Given the description of an element on the screen output the (x, y) to click on. 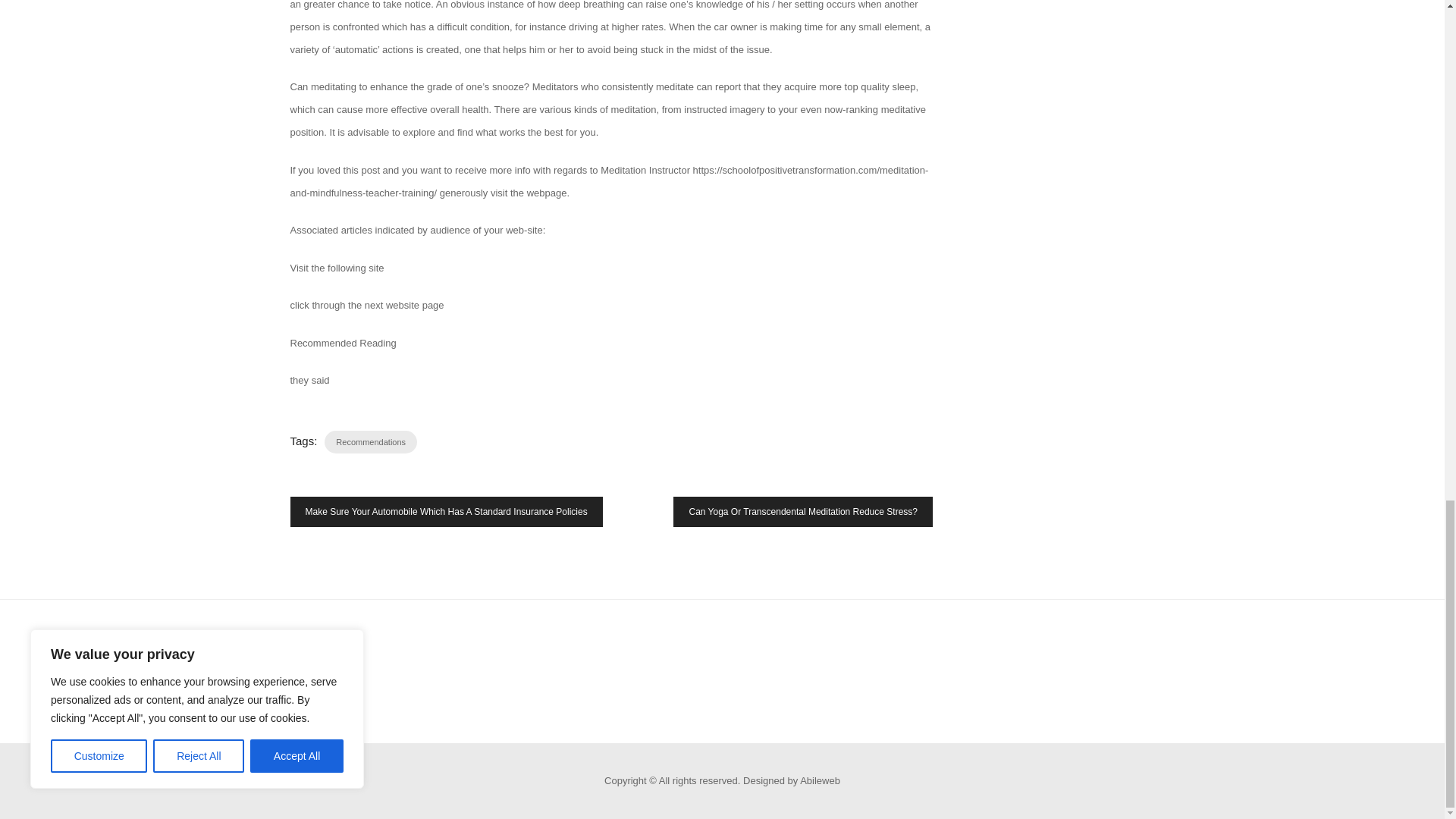
Recommended Reading (342, 342)
explore (419, 132)
Recommendations (370, 440)
Visit the following site (336, 266)
click through the next website page (366, 305)
they said (309, 379)
Can Yoga Or Transcendental Meditation Reduce Stress? (802, 511)
